Given the description of an element on the screen output the (x, y) to click on. 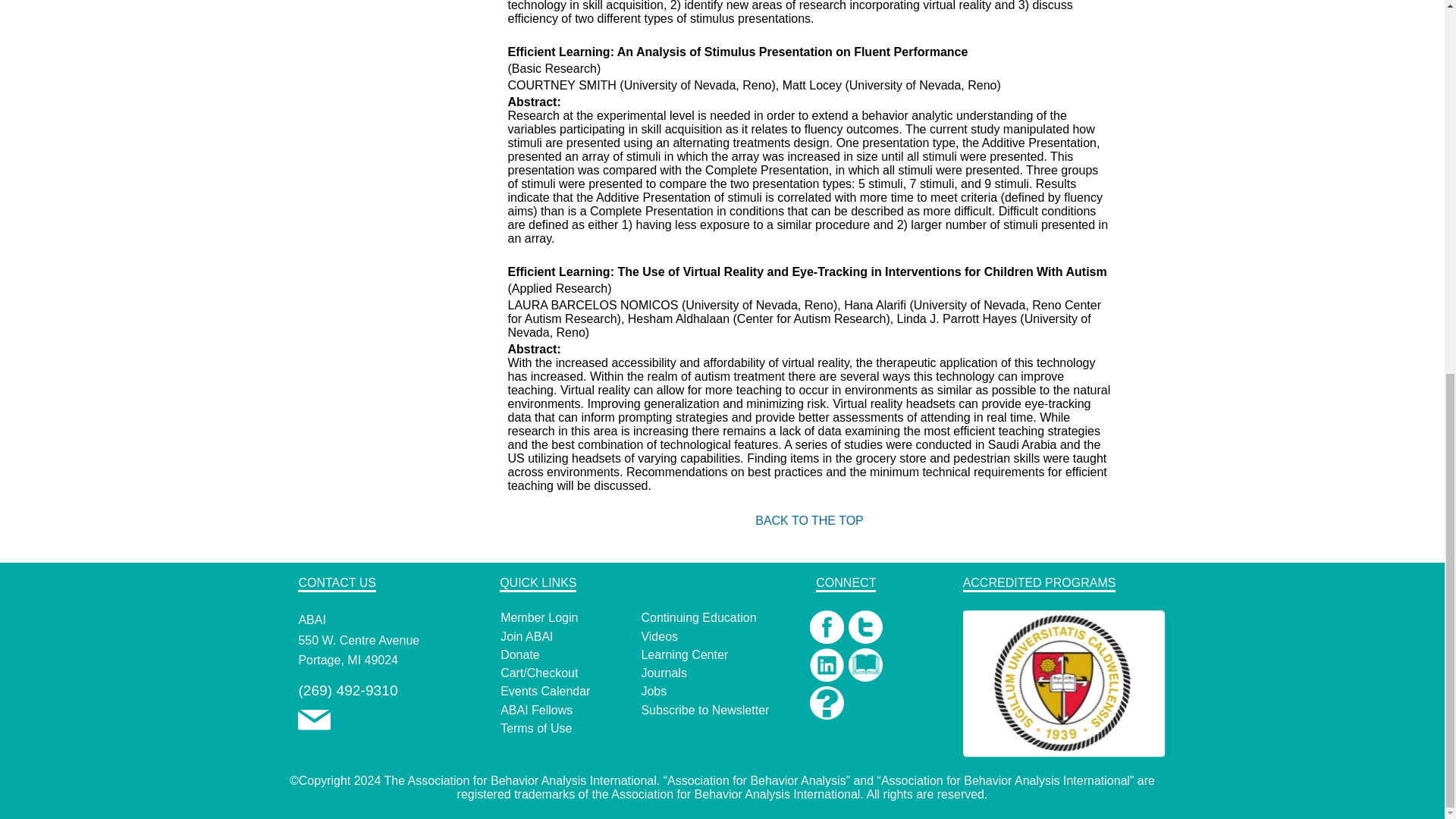
Contact us (314, 725)
Call ABAI (347, 690)
Portal Account Login (539, 617)
Contact Us (314, 720)
